Given the description of an element on the screen output the (x, y) to click on. 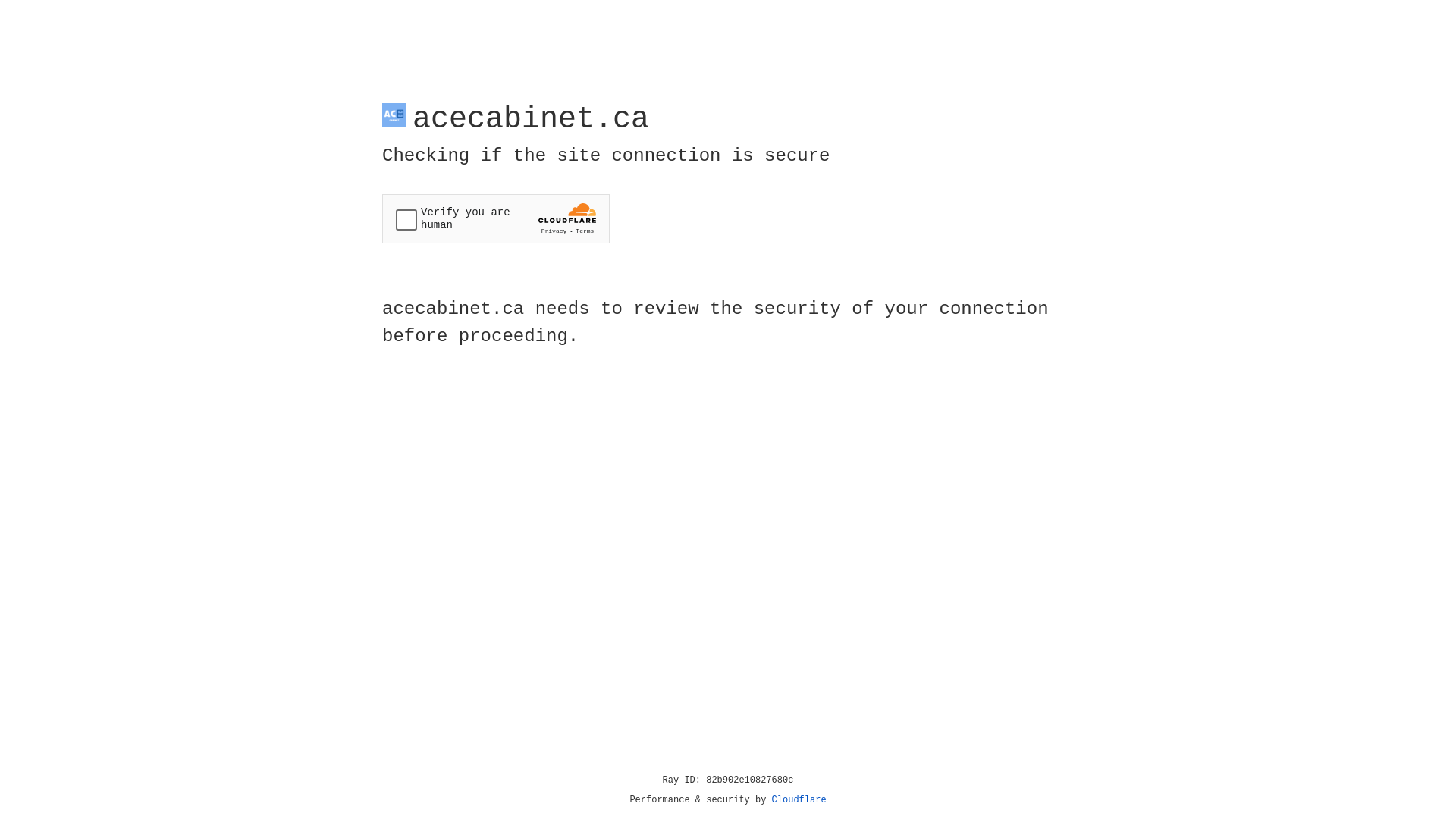
Cloudflare Element type: text (798, 799)
Widget containing a Cloudflare security challenge Element type: hover (495, 218)
